Given the description of an element on the screen output the (x, y) to click on. 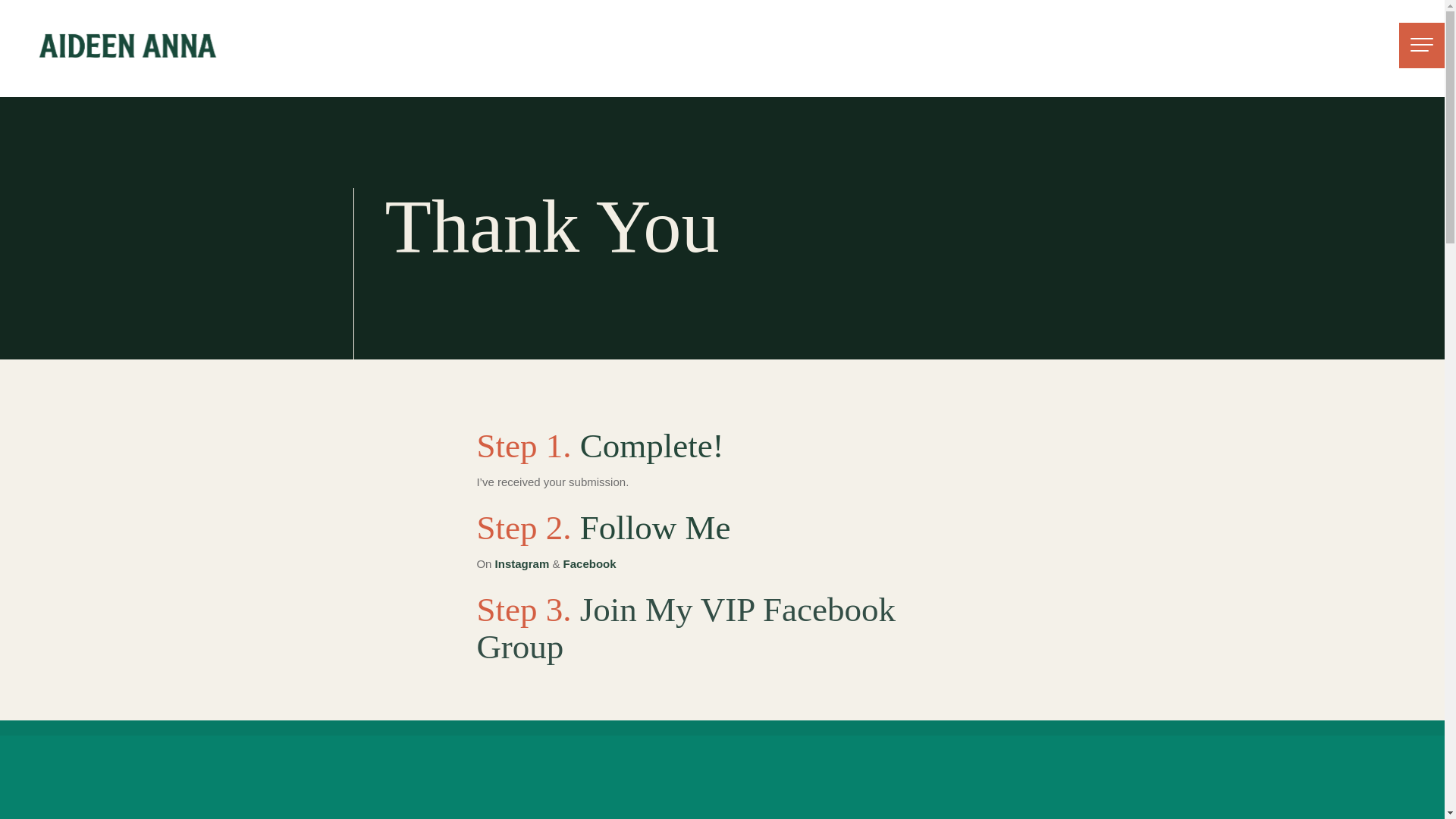
Aideen Anna Photography (136, 43)
Facebook (589, 563)
Instagram (522, 563)
VIP Facebook Group (685, 628)
